Given the description of an element on the screen output the (x, y) to click on. 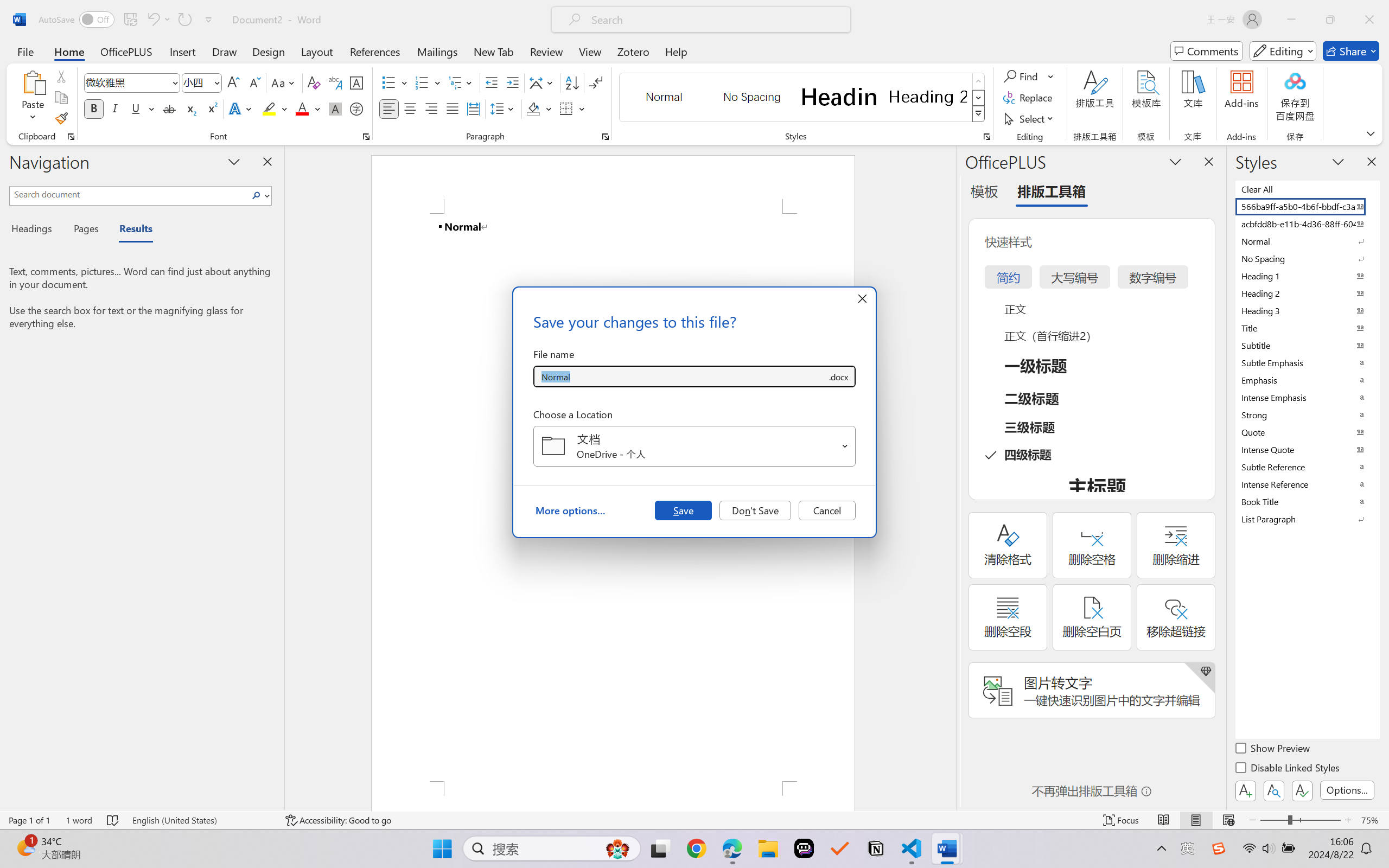
Restore Down (1330, 19)
AutomationID: BadgeAnchorLargeTicker (24, 847)
Underline (135, 108)
New Tab (493, 51)
Undo <ApplyStyleToDoc>b__0 (158, 19)
Shading RGB(0, 0, 0) (533, 108)
Grow Font (233, 82)
Clear Formatting (313, 82)
Search (256, 195)
More Options (1051, 75)
Borders (566, 108)
Text Highlight Color Yellow (269, 108)
Font Size (201, 82)
